Given the description of an element on the screen output the (x, y) to click on. 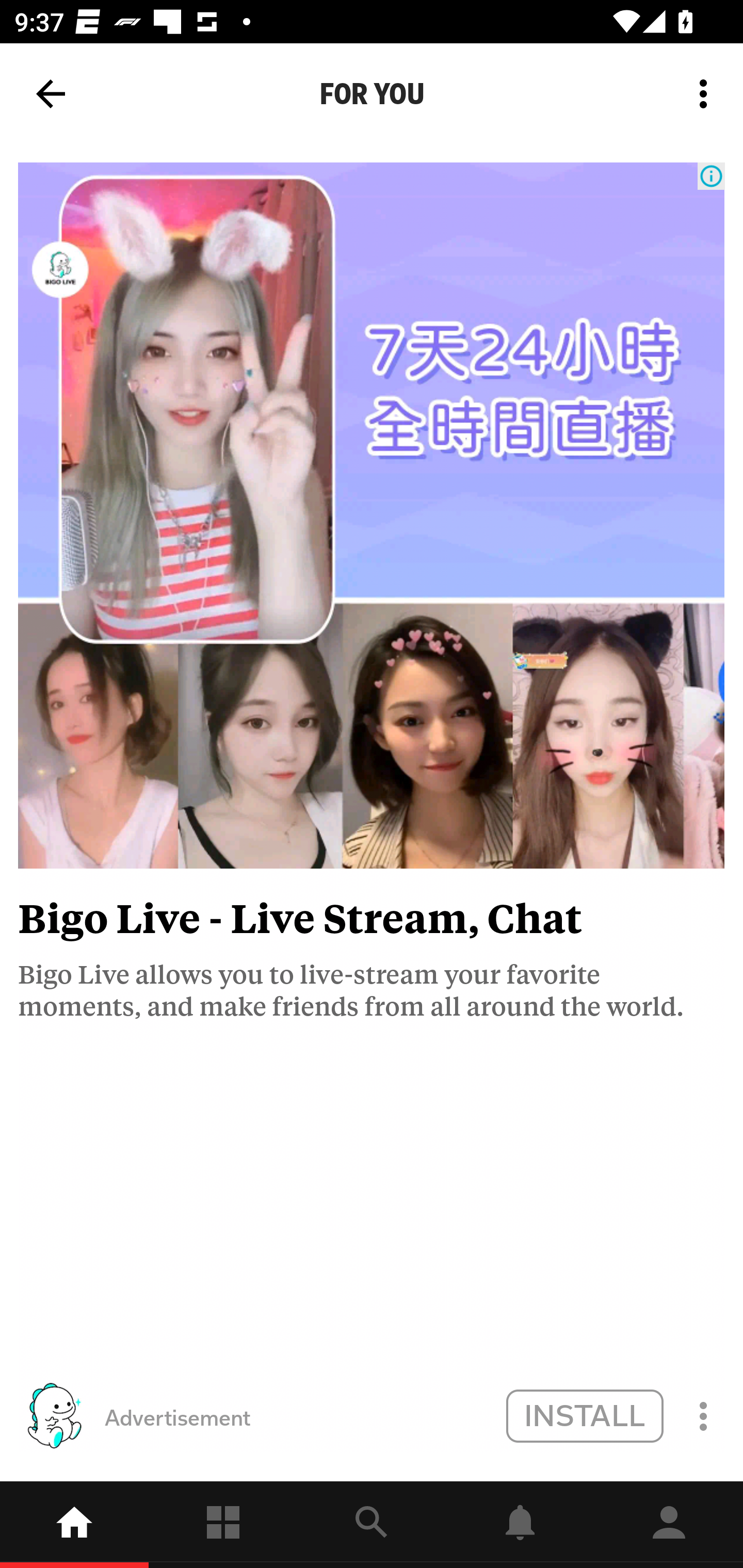
Back (50, 93)
FOR YOU (371, 93)
More options (706, 93)
Ad Choices Icon (711, 176)
INSTALL (584, 1415)
home (74, 1524)
Following (222, 1524)
explore (371, 1524)
Notifications (519, 1524)
Profile (668, 1524)
